Given the description of an element on the screen output the (x, y) to click on. 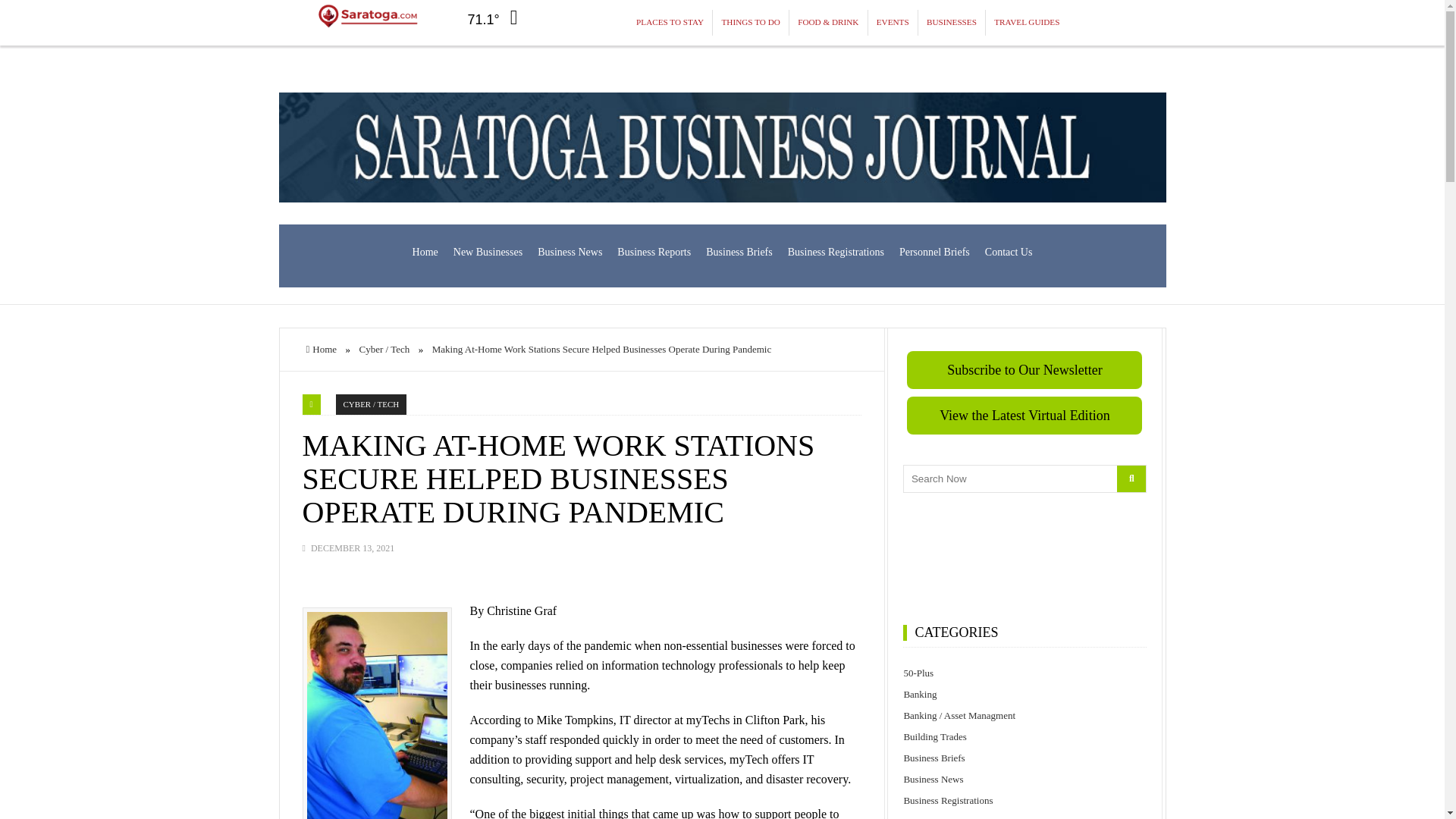
Business Briefs (1024, 758)
Business Registrations (835, 252)
Business Briefs (739, 252)
Subscribe to Our Newsletter (1024, 370)
Search (1130, 479)
BUSINESSES (951, 22)
New Businesses (487, 252)
50-Plus (1024, 672)
Business Reports (654, 252)
Home (321, 348)
THINGS TO DO (751, 22)
Banking (1024, 694)
EVENTS (892, 22)
Home (424, 252)
View the Latest Virtual Edition (1024, 415)
